Given the description of an element on the screen output the (x, y) to click on. 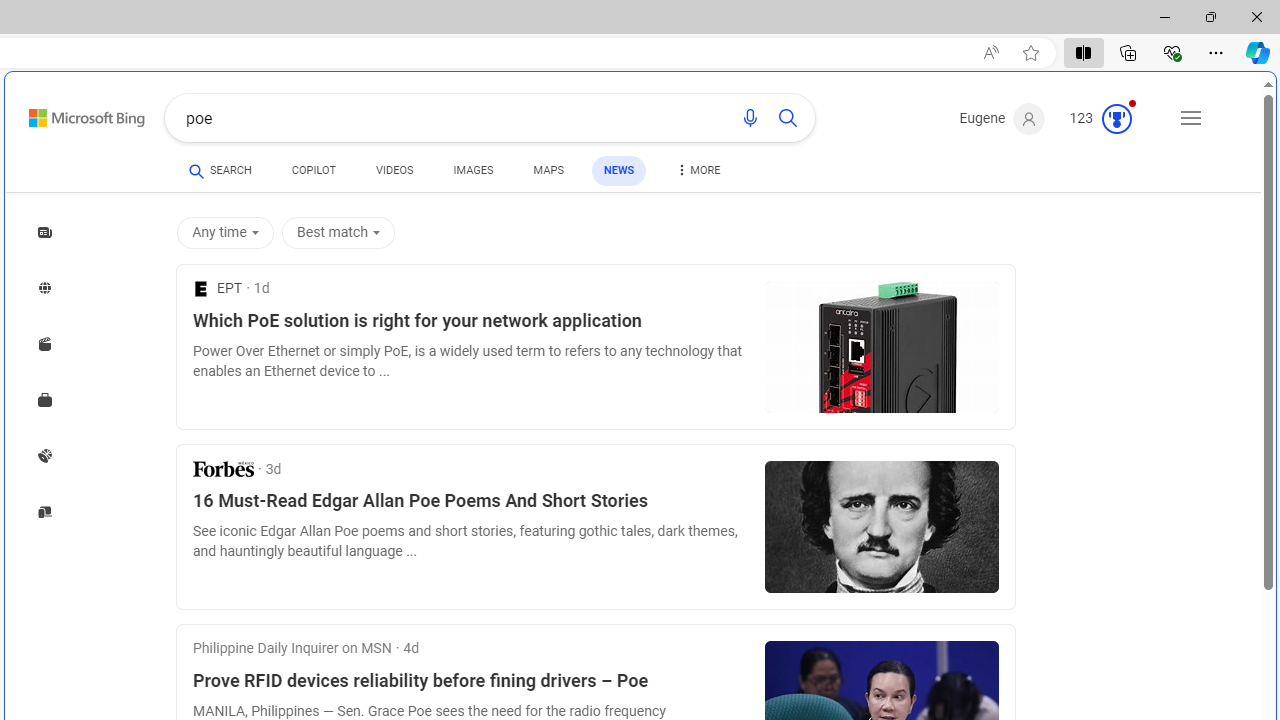
Search news about Sports (44, 455)
MAPS (548, 173)
Search news from EPT (218, 288)
MAPS (548, 170)
Which PoE solution is right for your network application (470, 321)
Search news about World (44, 288)
IMAGES (473, 173)
Search news about Top stories (44, 231)
Dropdown Menu (697, 170)
